Given the description of an element on the screen output the (x, y) to click on. 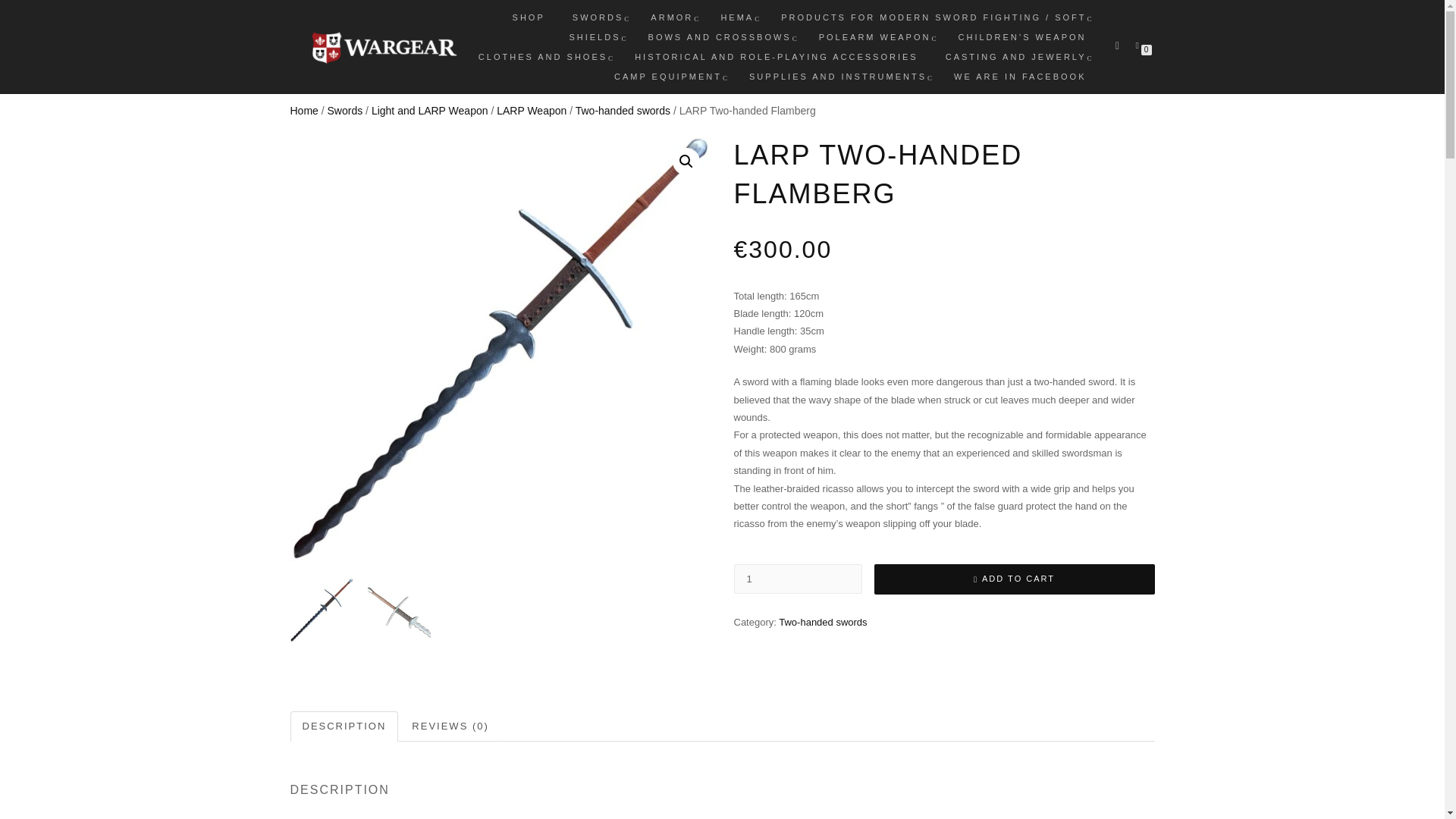
View your shopping cart (1139, 43)
BOWS AND CROSSBOWS (720, 36)
SHIELDS (594, 36)
SWORDS (597, 17)
ARMOR (671, 17)
SHOP (528, 17)
1 (798, 578)
HEMA (737, 17)
4pzregb7iqw-1-jpg (499, 348)
